Given the description of an element on the screen output the (x, y) to click on. 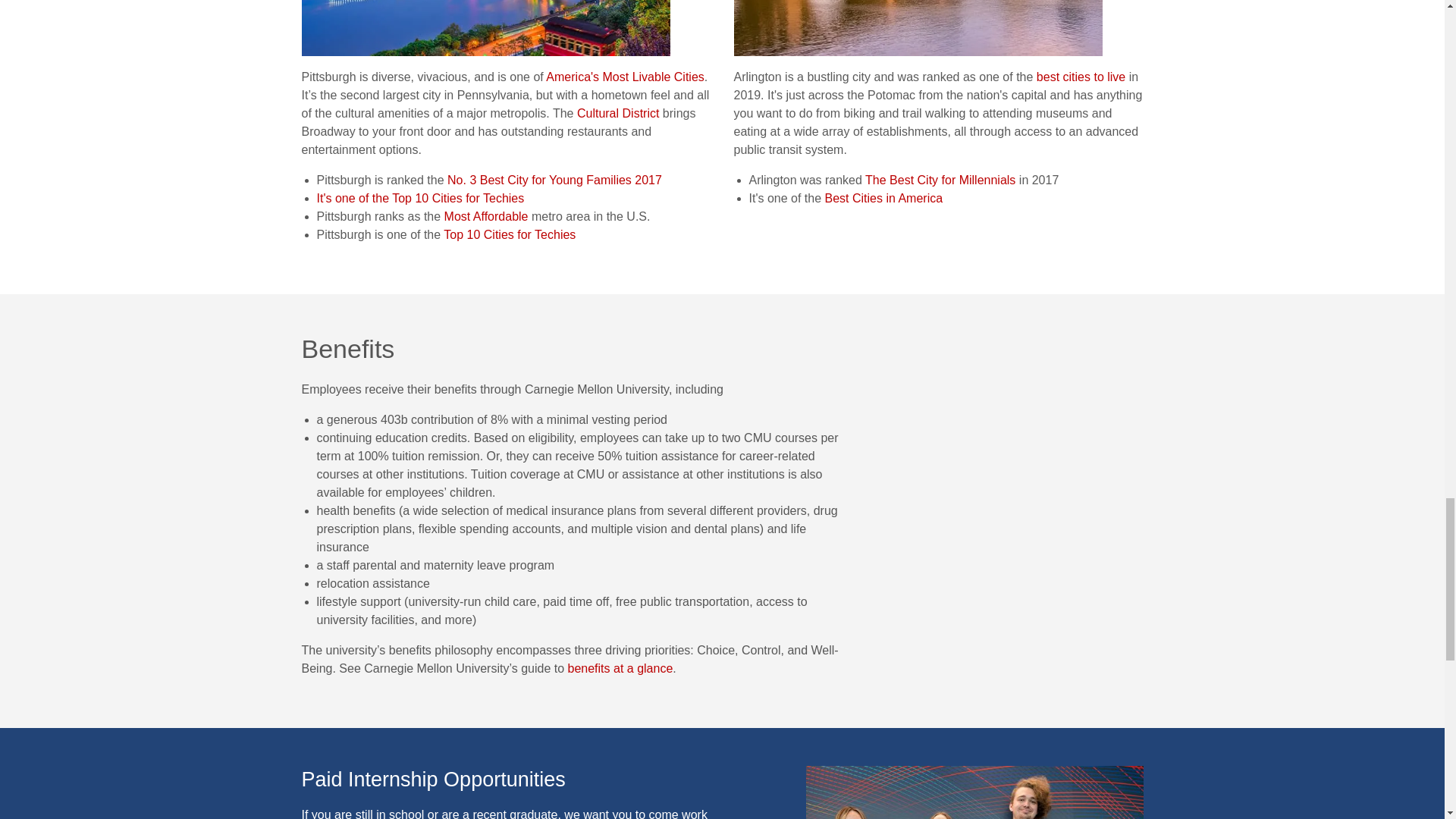
Top Secret Pittsburgh (485, 28)
Arlington Top Secret (917, 28)
